Given the description of an element on the screen output the (x, y) to click on. 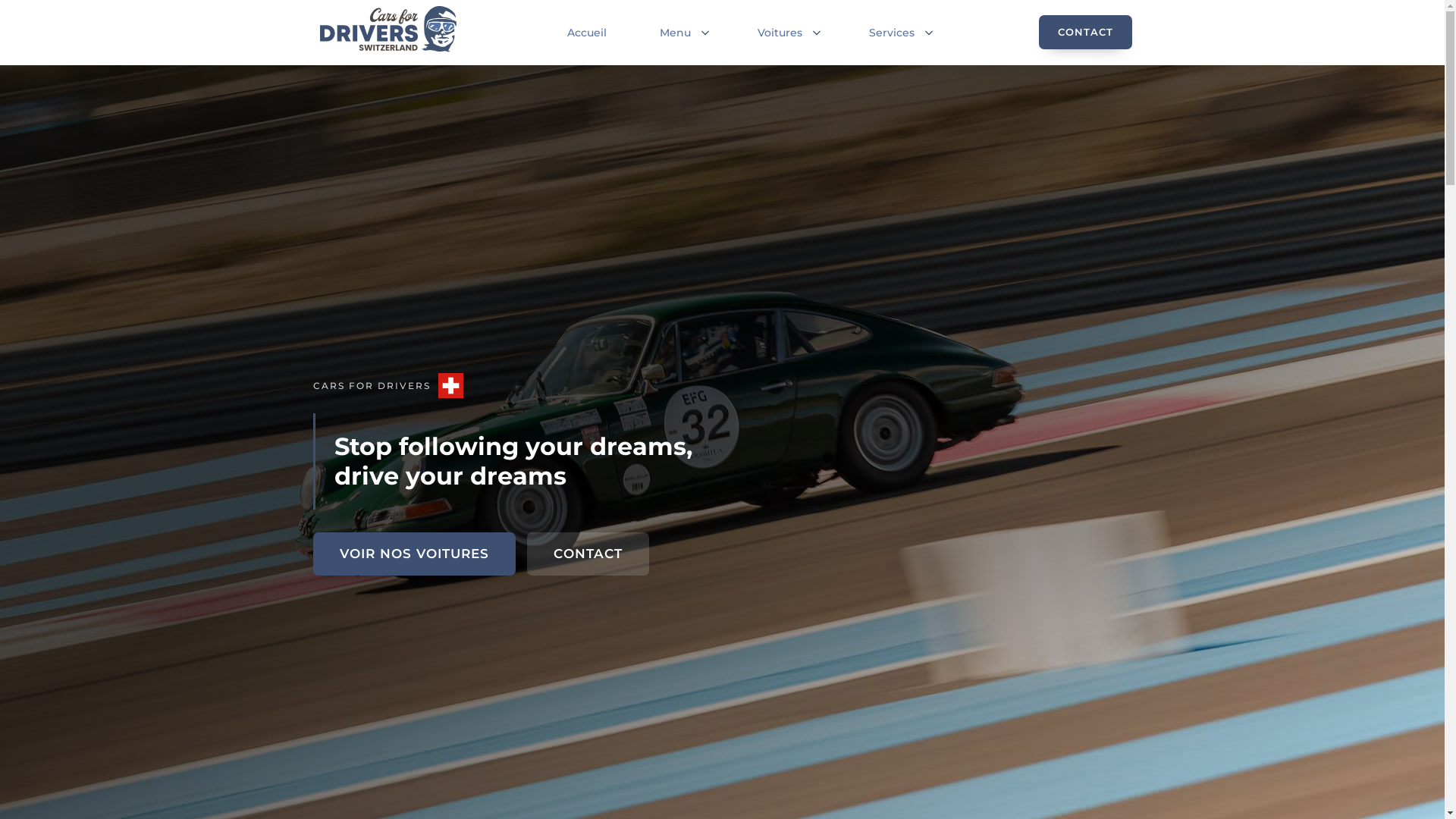
Services Element type: text (891, 32)
Voitures Element type: text (779, 32)
Accueil Element type: text (590, 32)
VOIR NOS VOITURES Element type: text (413, 553)
CONTACT Element type: text (587, 553)
CONTACT Element type: text (1085, 32)
